Given the description of an element on the screen output the (x, y) to click on. 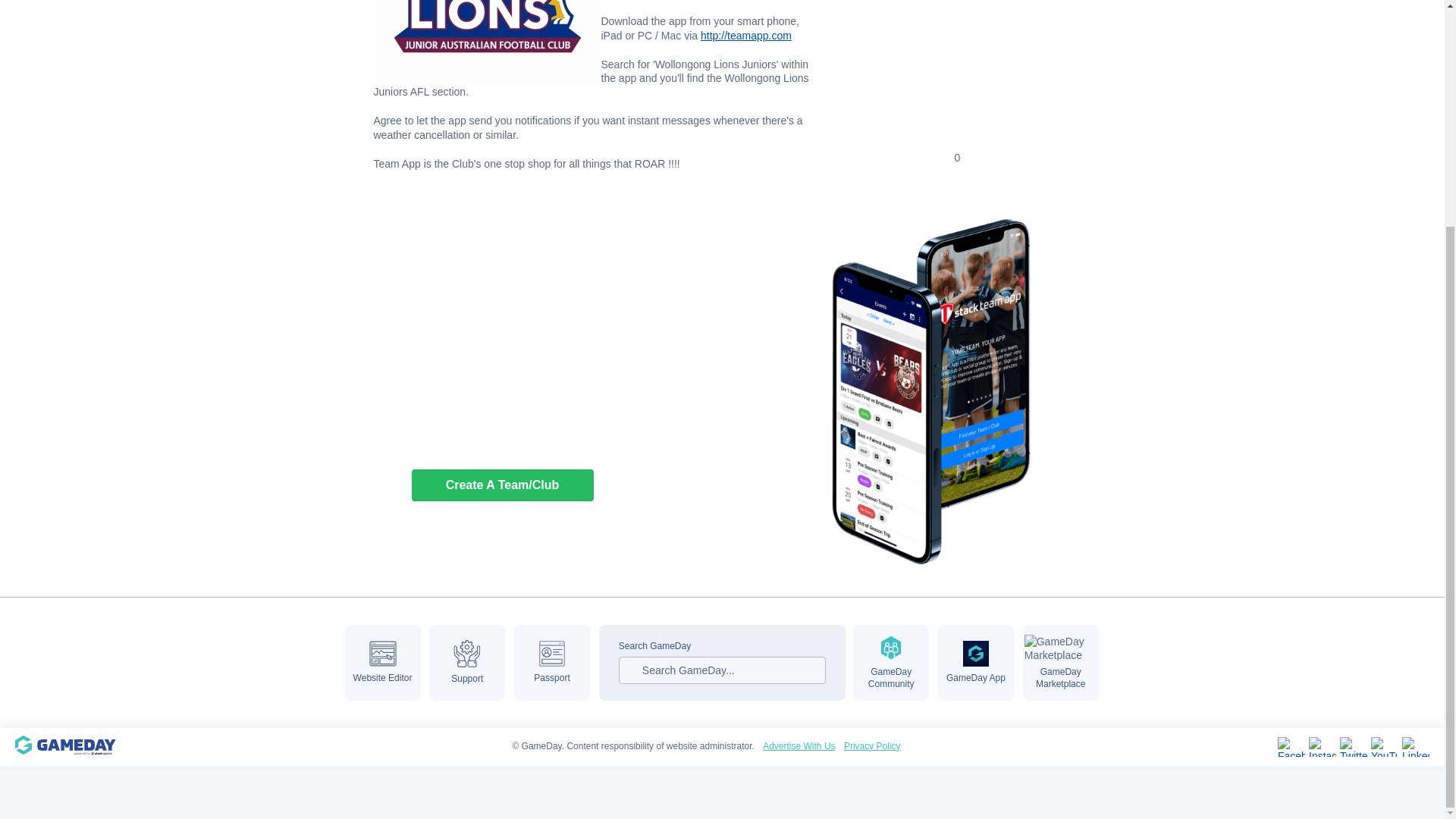
Privacy Policy (872, 746)
Website Editor (381, 662)
GameDay (74, 746)
Site Editor (381, 662)
YouTube (1384, 746)
GameDay App (975, 662)
GameDay powered by Stack Sports (74, 746)
GameDay Marketplace (1061, 662)
Twitter (1353, 746)
Support (467, 662)
Instagram (1322, 746)
LinkedIn (1415, 746)
GameDay Community (890, 662)
Support (467, 662)
GameDay App (975, 662)
